Given the description of an element on the screen output the (x, y) to click on. 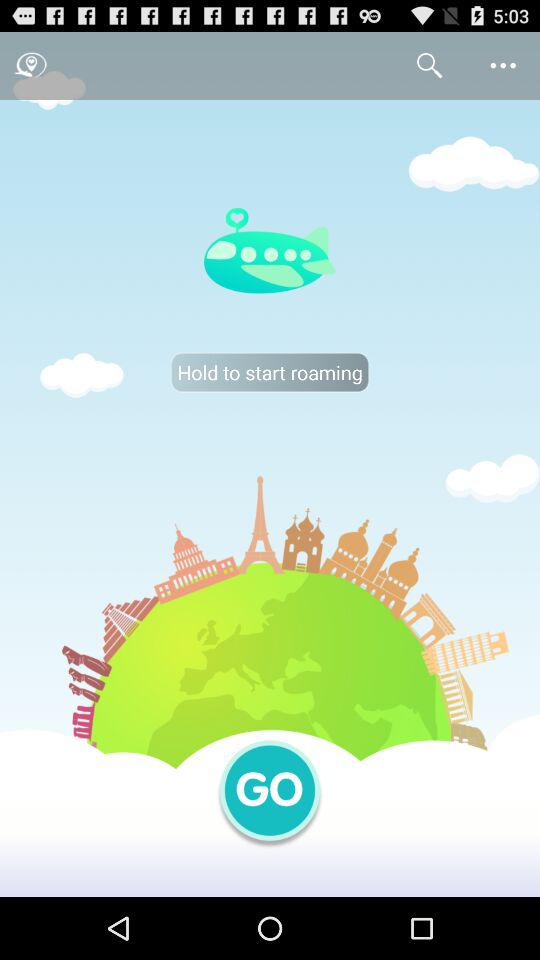
click on search icon beside three horizontal dots (429, 65)
click on the second cloud image on the right (493, 478)
